Given the description of an element on the screen output the (x, y) to click on. 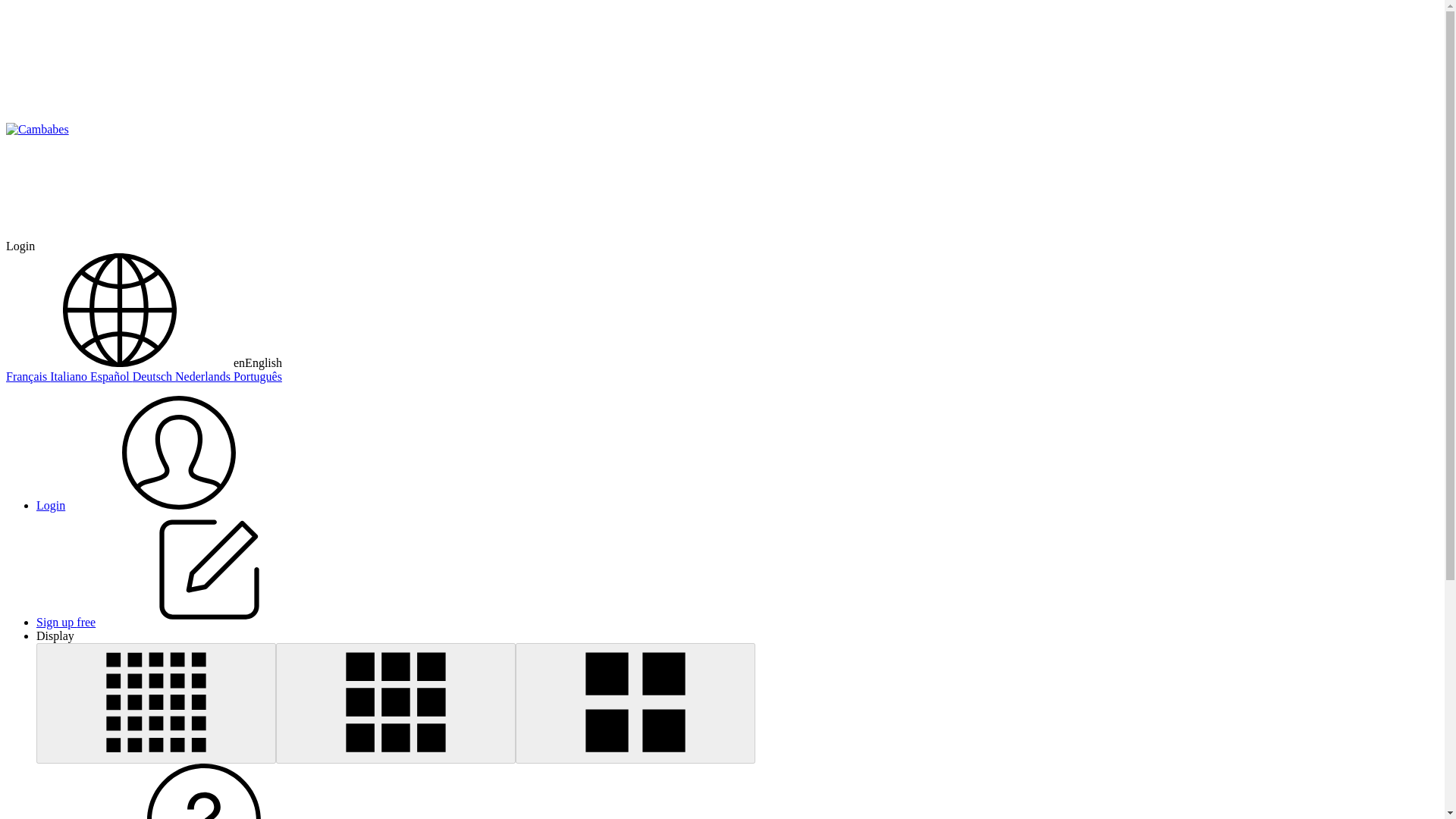
See all girls (36, 129)
Sign up free (179, 621)
Italiano (69, 376)
Login (164, 504)
Deutsch (153, 376)
Login (19, 245)
Nederlands (203, 376)
